Given the description of an element on the screen output the (x, y) to click on. 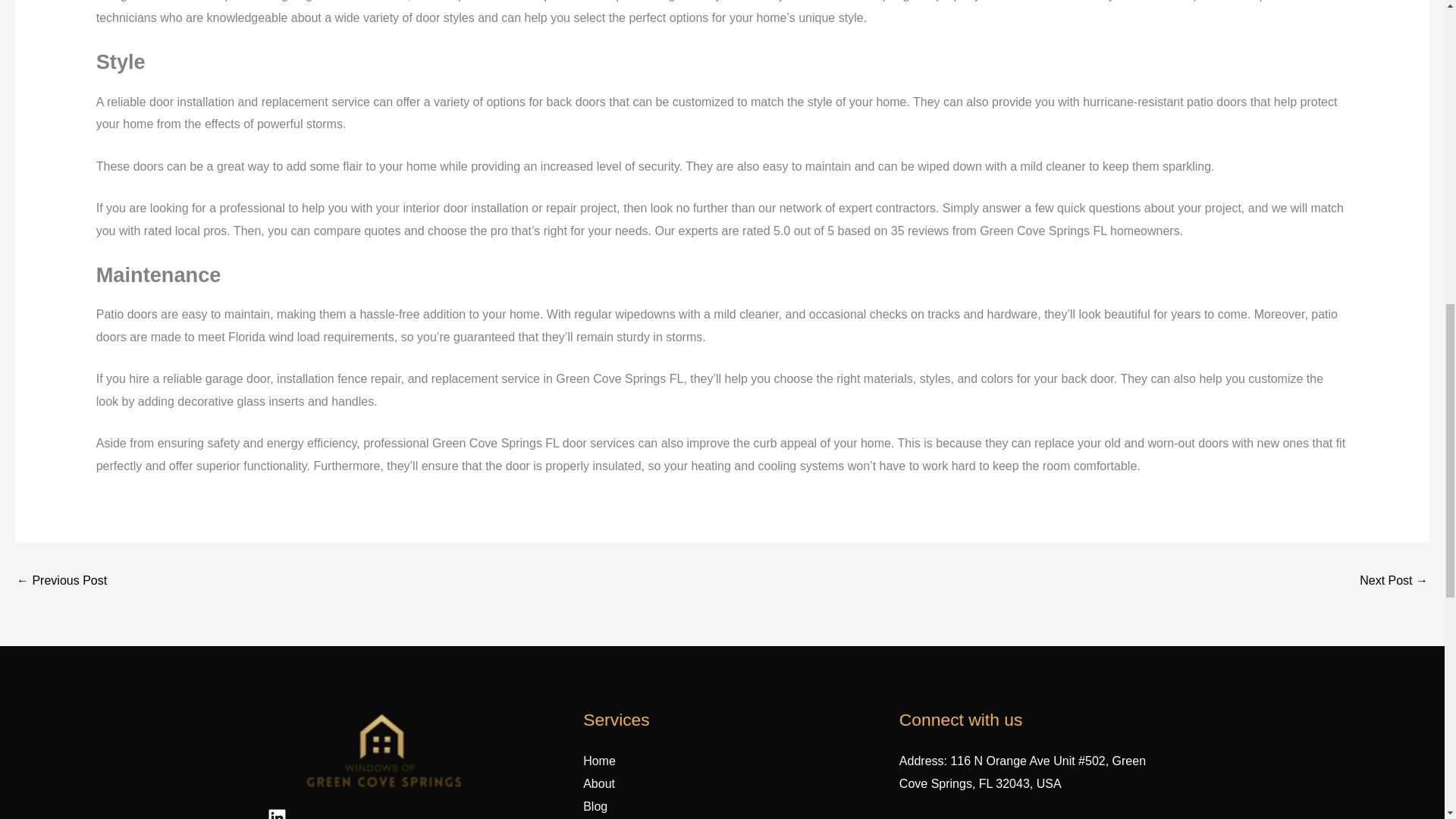
Residential Windows Green Cove Springs FL (1393, 582)
door replacement (552, 0)
Sliding Glass Doors Green Cove Springs FL (61, 582)
